Given the description of an element on the screen output the (x, y) to click on. 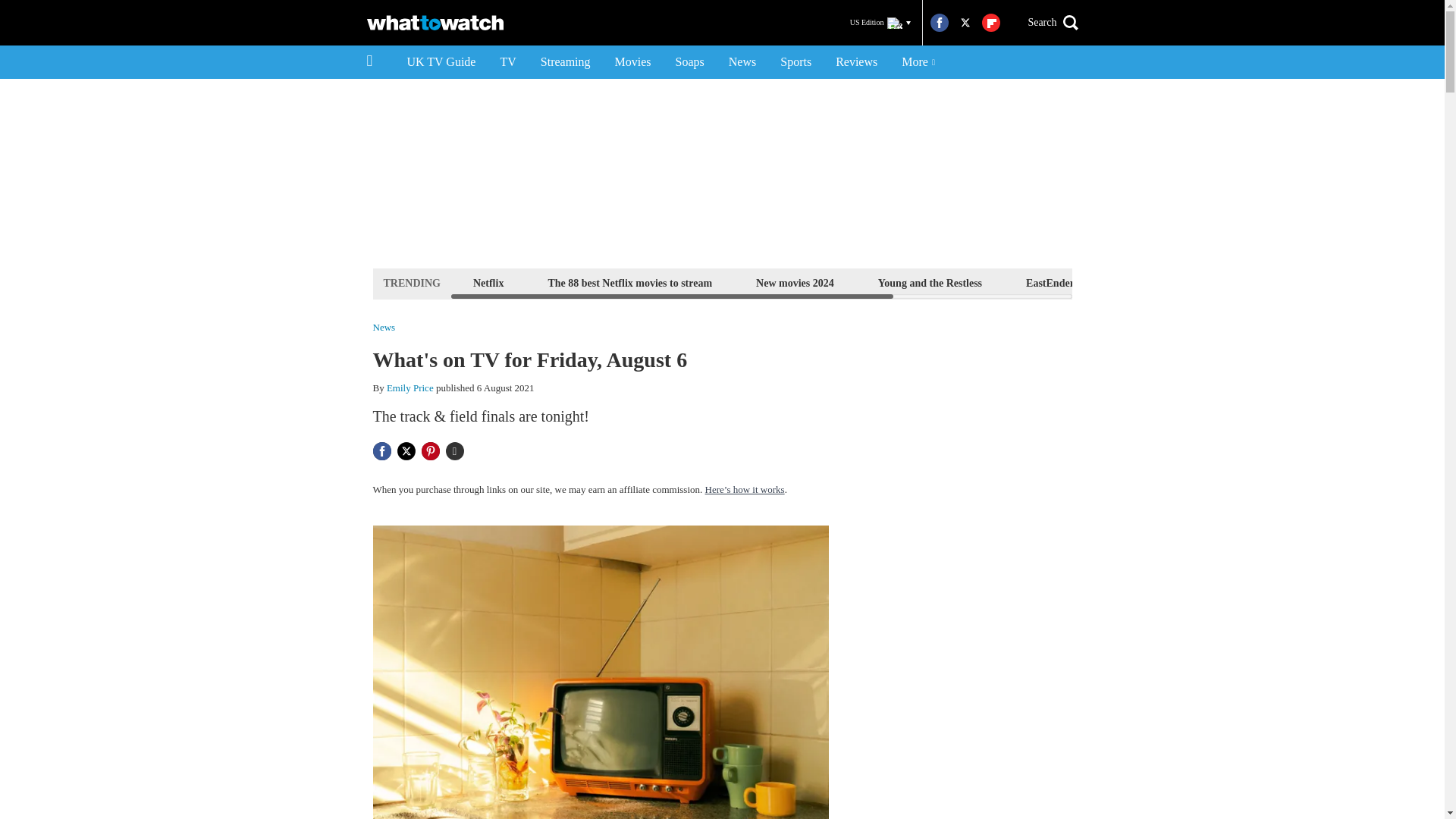
UK TV Guide (440, 61)
The 88 best Netflix movies to stream (629, 282)
Coronation Street (1260, 282)
Soaps (689, 61)
Emily Price (410, 387)
Streaming (565, 61)
Emmerdale (1148, 282)
Netflix (487, 282)
Reviews (856, 61)
US Edition (880, 22)
